Given the description of an element on the screen output the (x, y) to click on. 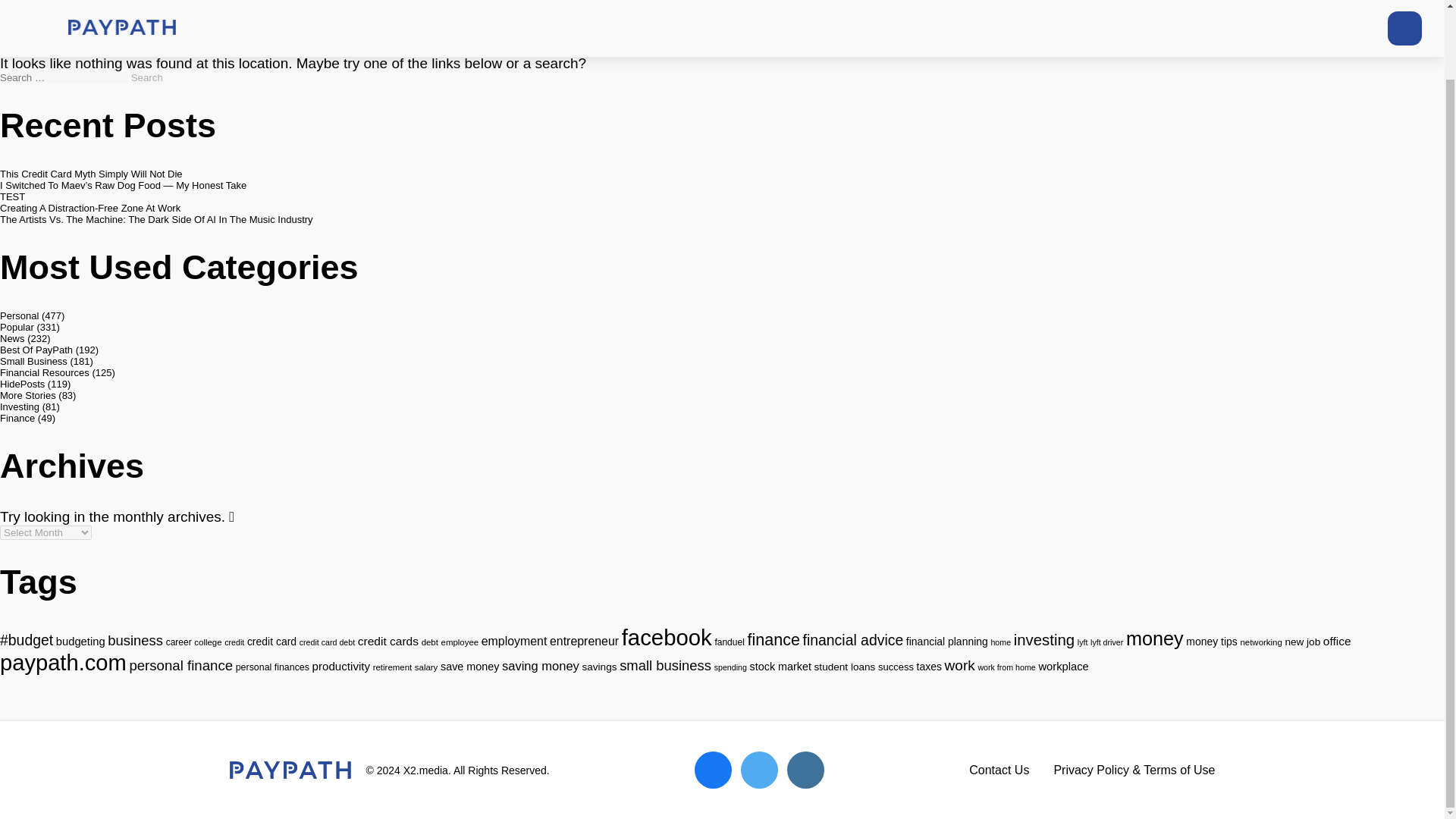
career (178, 642)
college (207, 642)
HidePosts (22, 383)
Investing (19, 406)
Small Business (33, 360)
Search (147, 77)
Finance (17, 418)
Search (147, 77)
More Stories (28, 395)
Popular (16, 326)
budgeting (80, 641)
Best Of PayPath (36, 349)
TEST (12, 196)
business (135, 640)
